Given the description of an element on the screen output the (x, y) to click on. 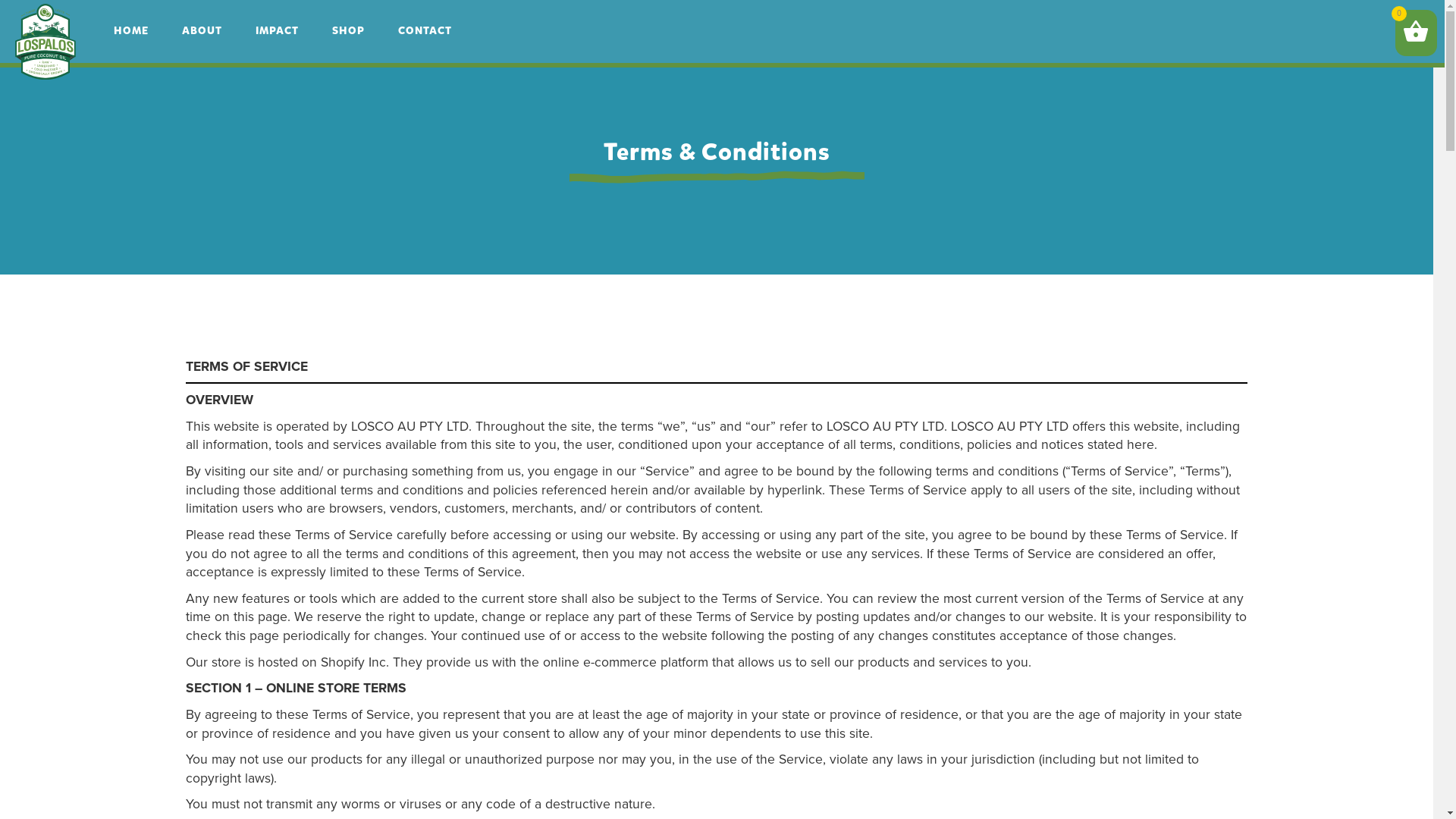
IMPACT Element type: text (276, 30)
CONTACT Element type: text (424, 30)
SHOP Element type: text (348, 30)
Lospalos Coconut Oil Element type: text (45, 41)
ABOUT Element type: text (202, 30)
HOME Element type: text (130, 30)
